Given the description of an element on the screen output the (x, y) to click on. 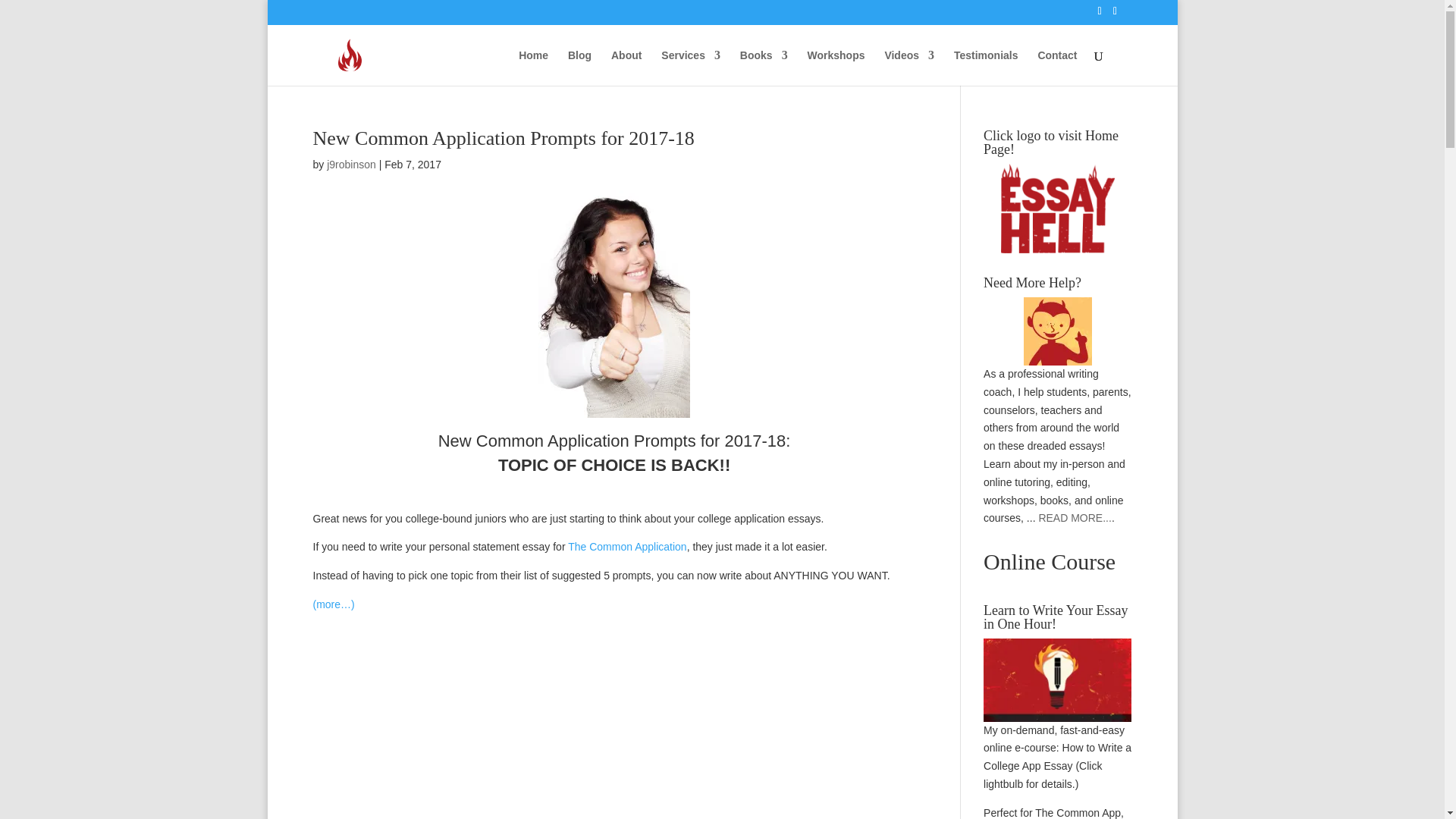
Services (690, 67)
Contact (1056, 67)
Click logo to visit Home Page! (1057, 208)
Testimonials (985, 67)
Books (763, 67)
Workshops (836, 67)
Posts by j9robinson (350, 164)
Learn to Write Your Essay in One Hour!  (1057, 679)
Videos (908, 67)
